Given the description of an element on the screen output the (x, y) to click on. 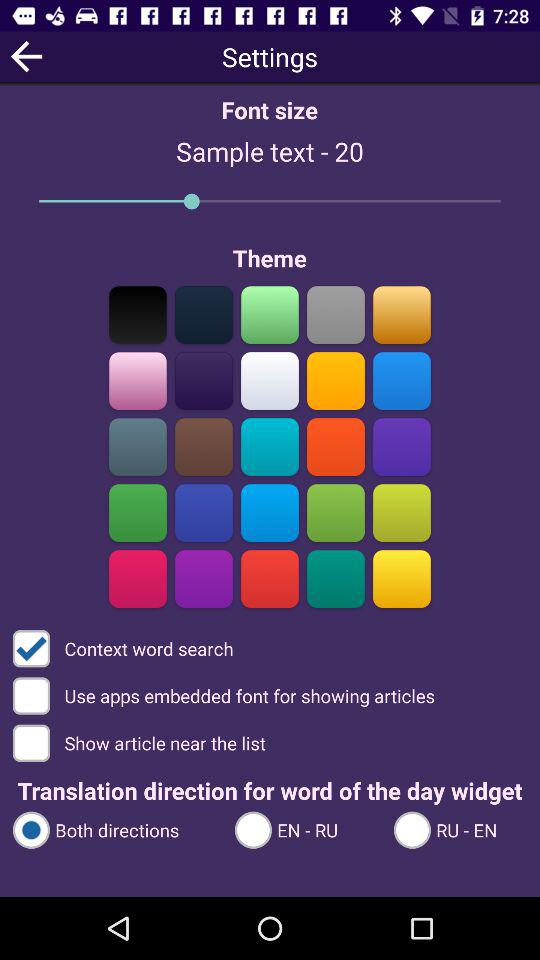
select blue as font color (269, 512)
